Given the description of an element on the screen output the (x, y) to click on. 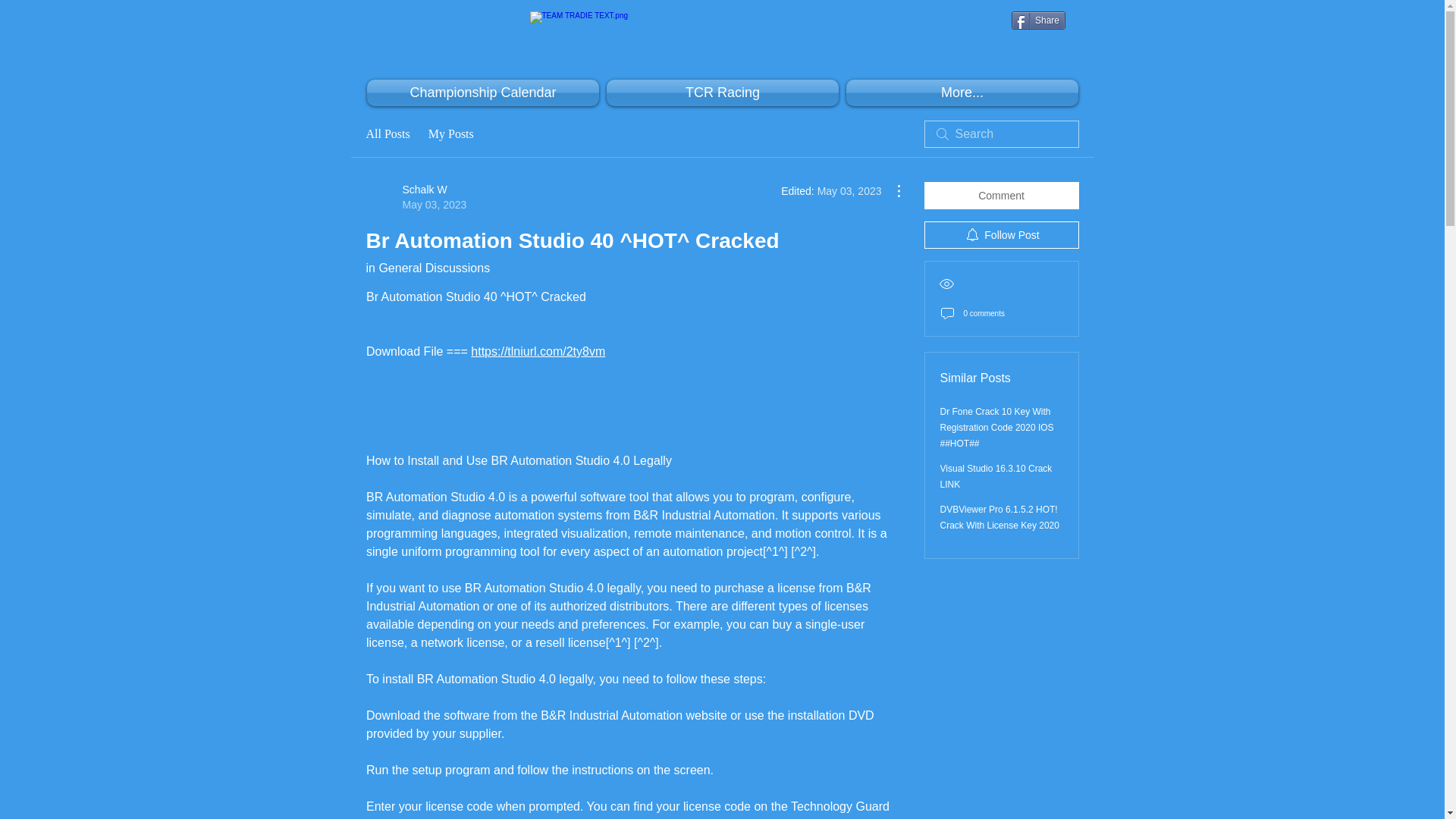
Twitter Tweet (415, 196)
Share (1038, 48)
Championship Calendar (1038, 20)
Visual Studio 16.3.10 Crack LINK (482, 92)
All Posts (996, 476)
in General Discussions (387, 134)
My Posts (427, 267)
Share (451, 134)
DVBViewer Pro 6.1.5.2 HOT! Crack With License Key 2020 (1038, 20)
TCR Racing (999, 517)
Follow Post (722, 92)
Comment (1000, 234)
